Given the description of an element on the screen output the (x, y) to click on. 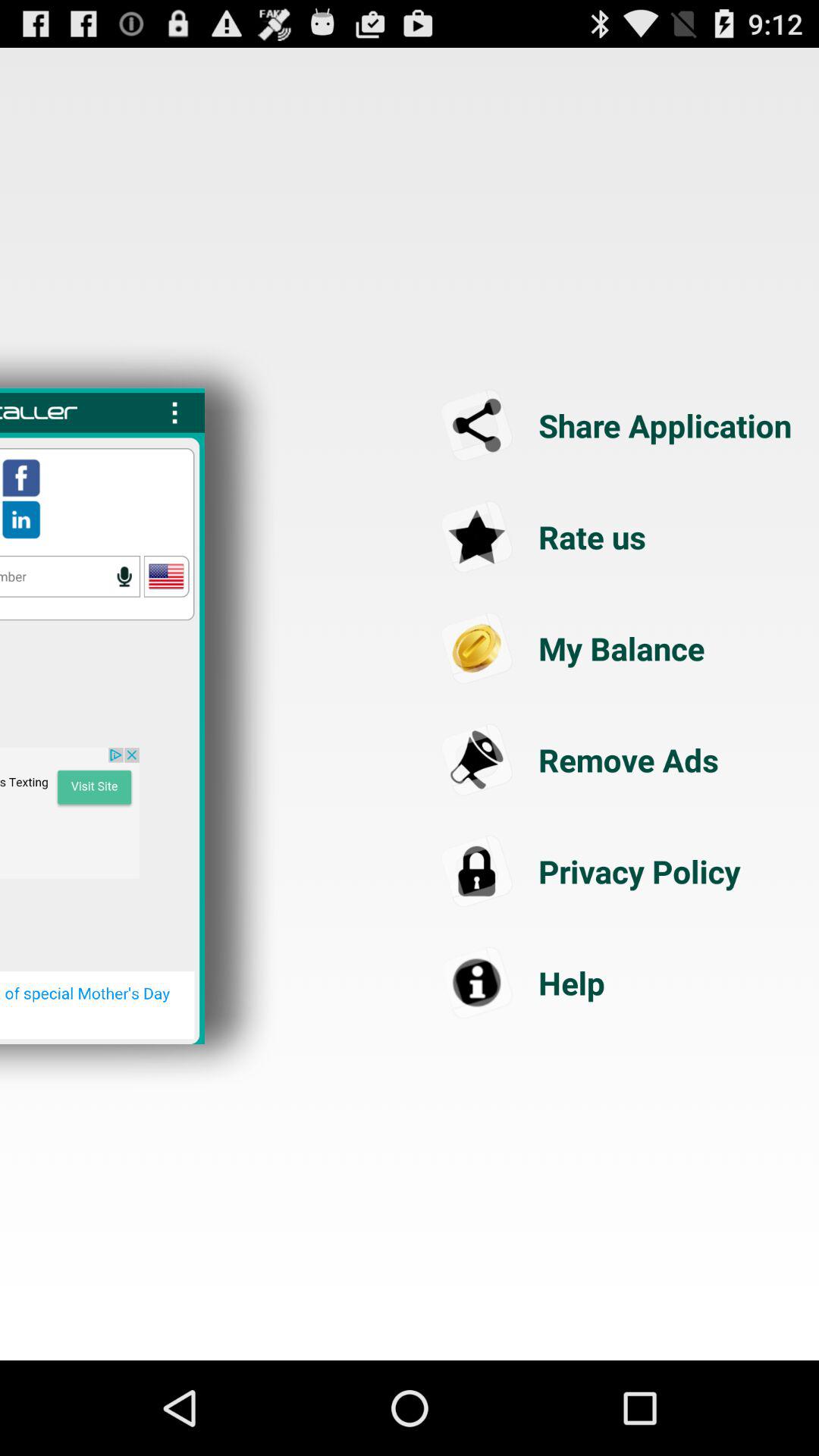
dictate phone number (124, 576)
